Given the description of an element on the screen output the (x, y) to click on. 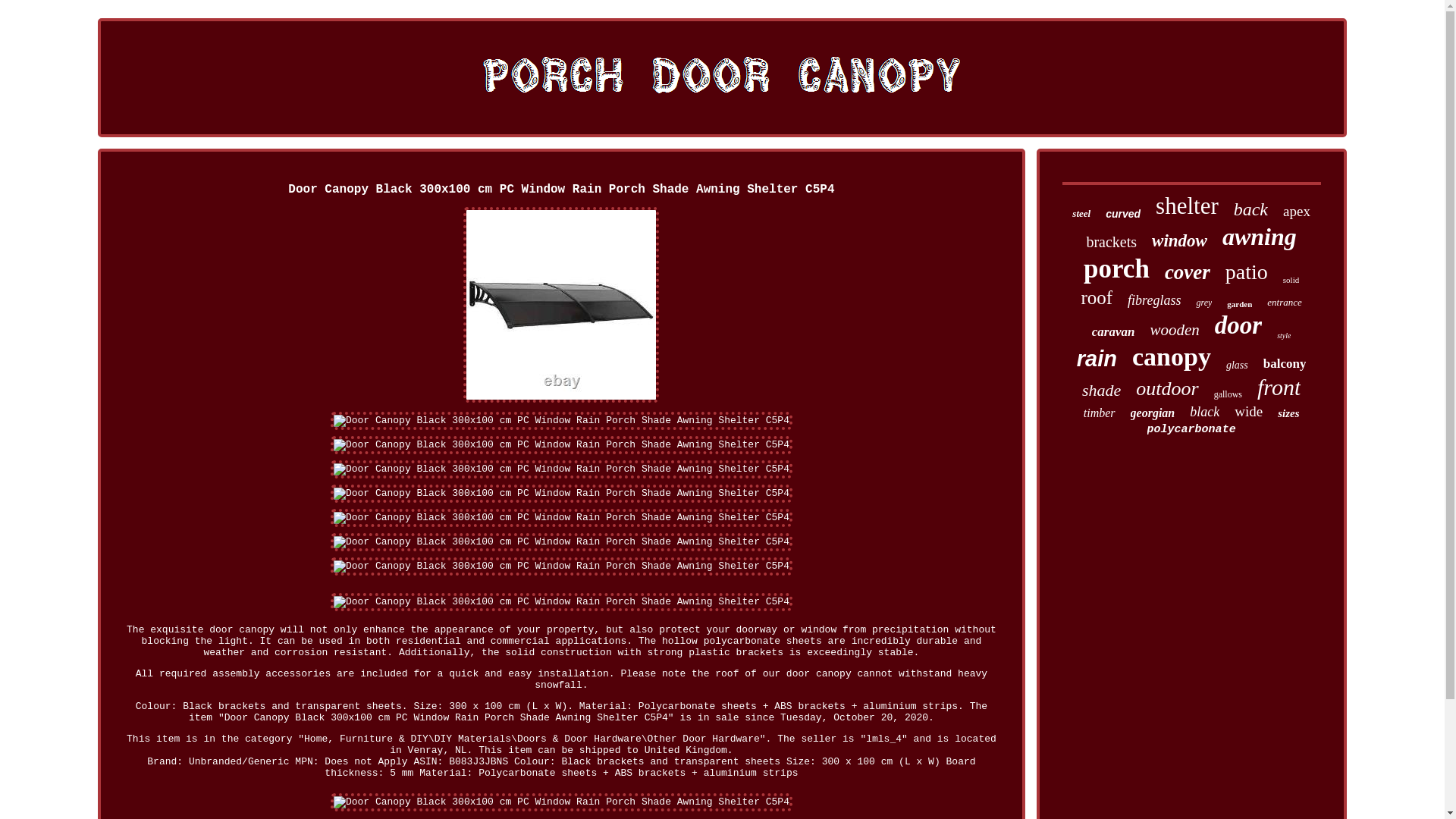
brackets (1111, 241)
rain (1096, 358)
steel (1080, 214)
cover (1186, 272)
caravan (1113, 331)
canopy (1171, 357)
glass (1236, 365)
garden (1239, 303)
